Given the description of an element on the screen output the (x, y) to click on. 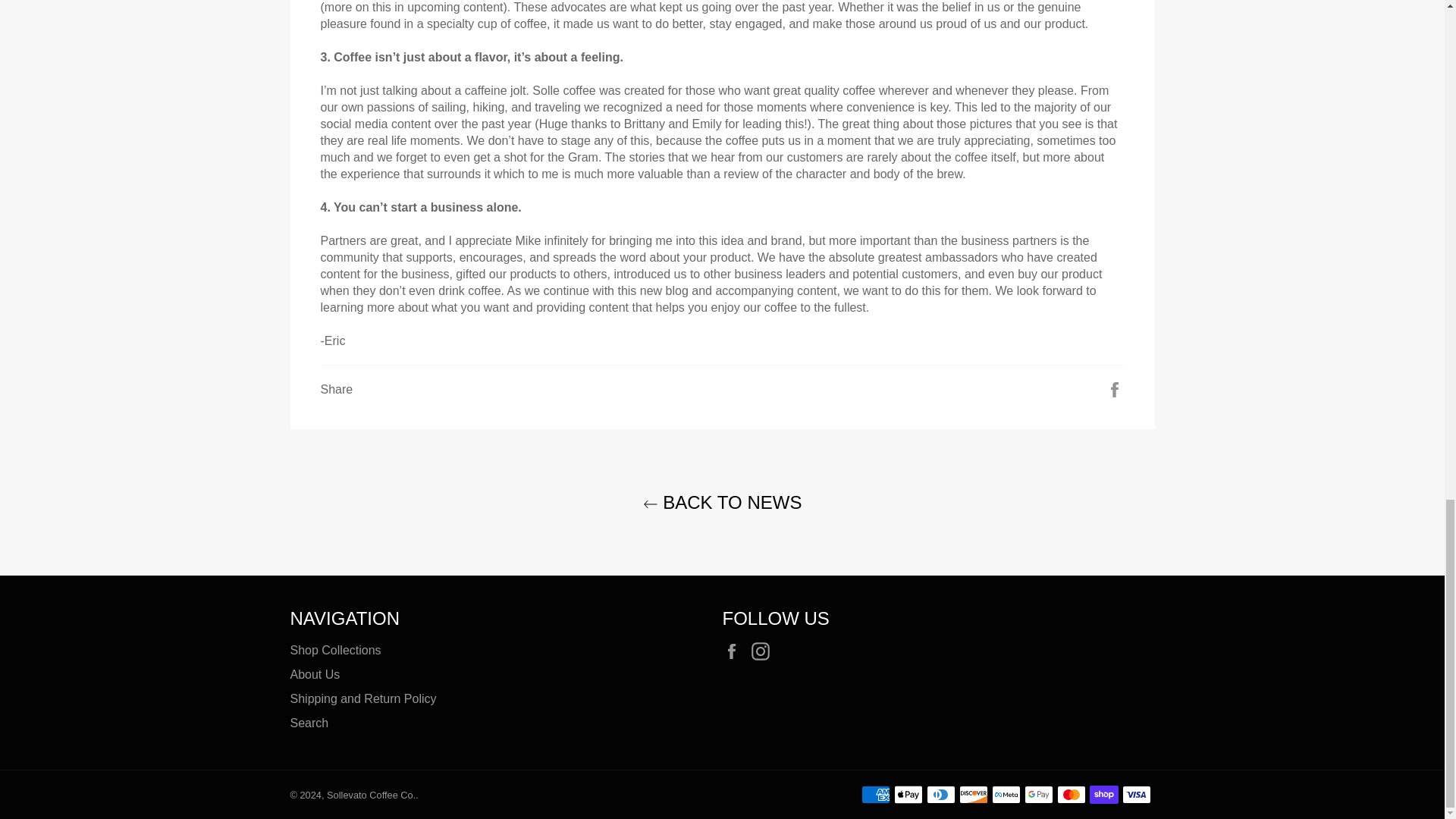
Sollevato Coffee Co. on Instagram (764, 651)
Share on Facebook (1114, 388)
Sollevato Coffee Co. on Facebook (735, 651)
